Given the description of an element on the screen output the (x, y) to click on. 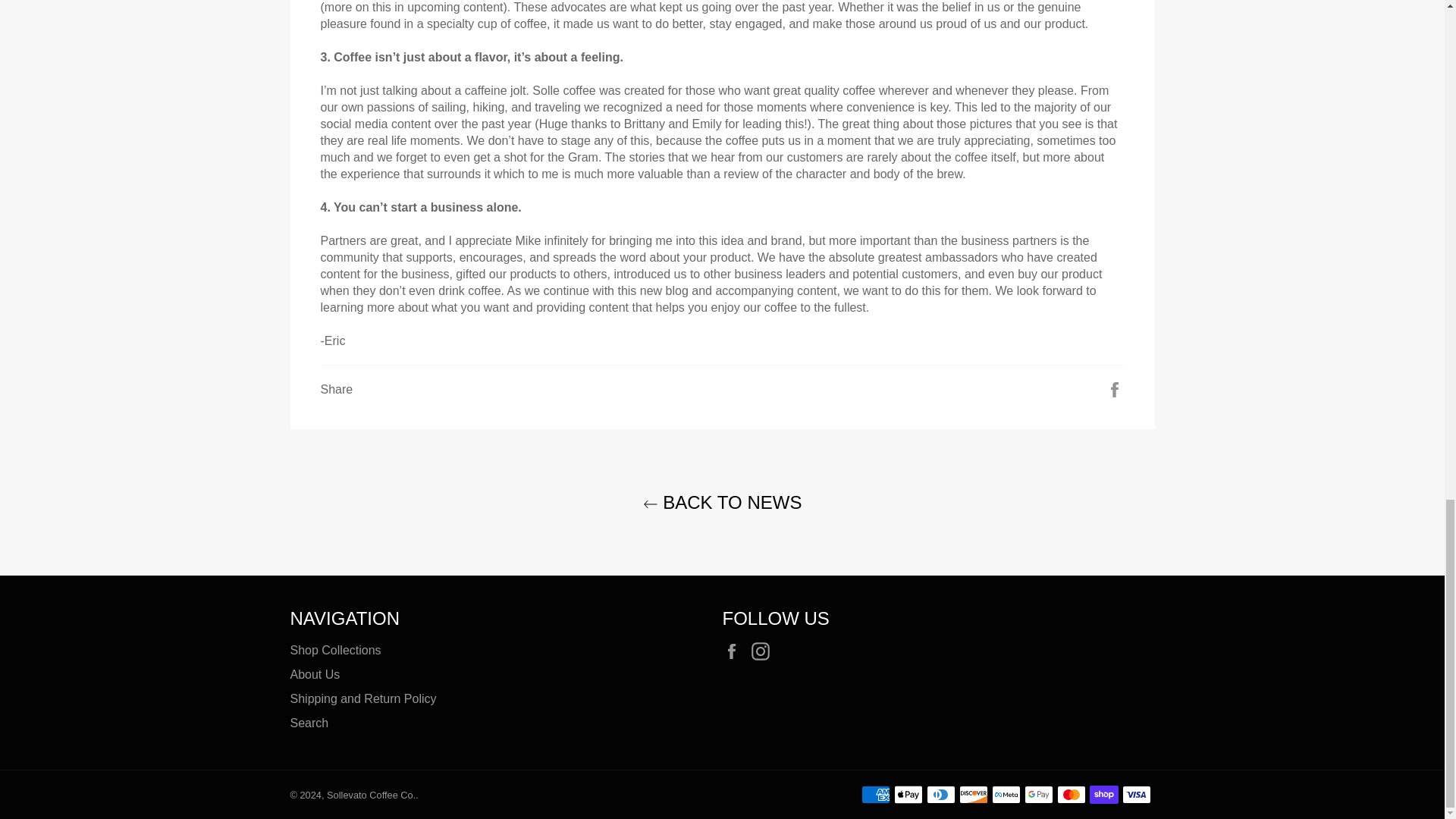
Sollevato Coffee Co. on Instagram (764, 651)
Share on Facebook (1114, 388)
Sollevato Coffee Co. on Facebook (735, 651)
